Given the description of an element on the screen output the (x, y) to click on. 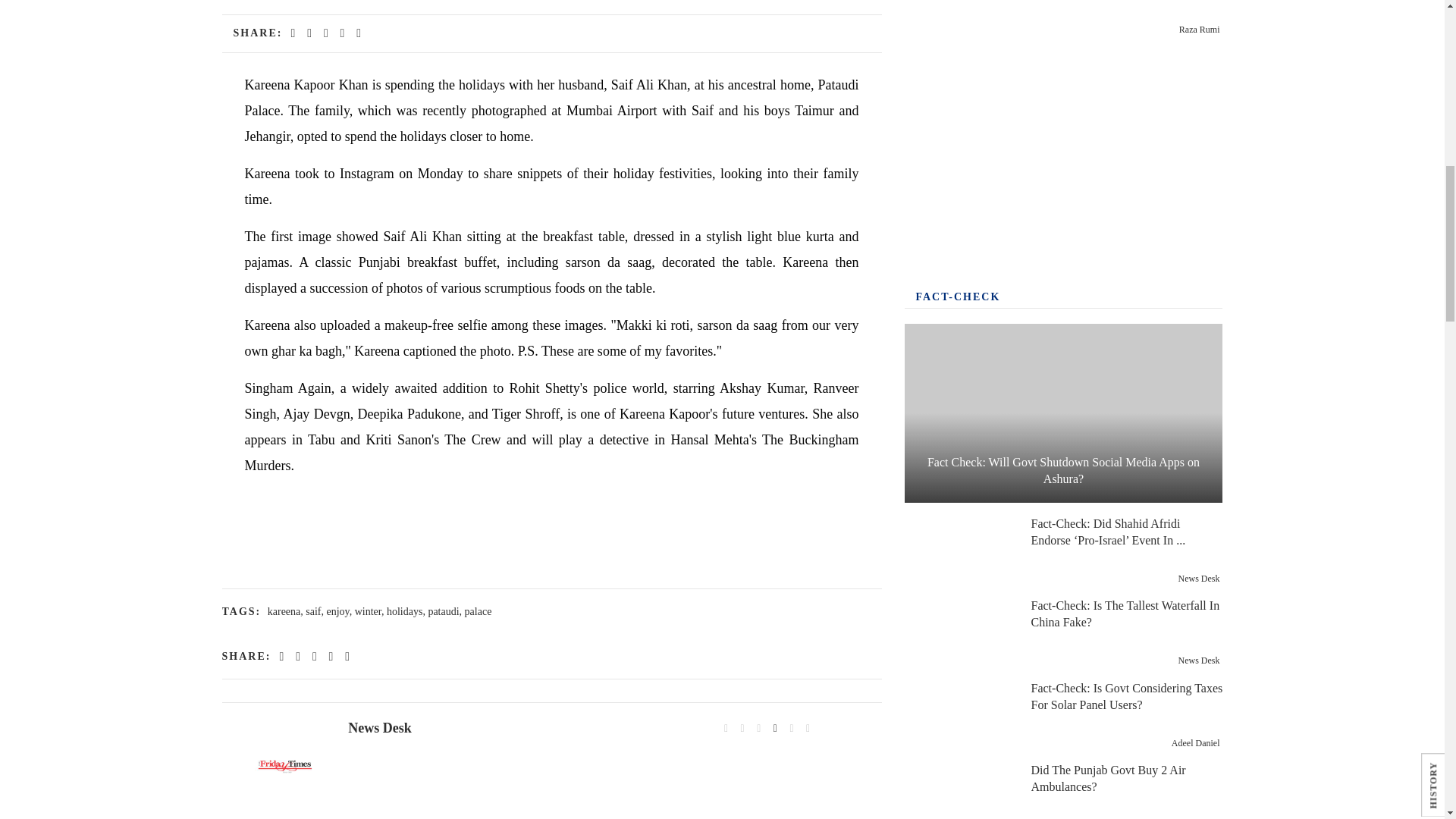
A Coup That Failed (959, 18)
Fact Check: Will Govt Shutdown Social Media Apps on Ashura? (1063, 412)
News Desk (283, 765)
Fact-Check: Is Govt Considering Taxes For Solar Panel Users? (959, 715)
Fact-Check: Is The Tallest Waterfall In China Fake? (959, 632)
Did The Punjab Govt Buy 2 Air Ambulances? (959, 791)
